Given the description of an element on the screen output the (x, y) to click on. 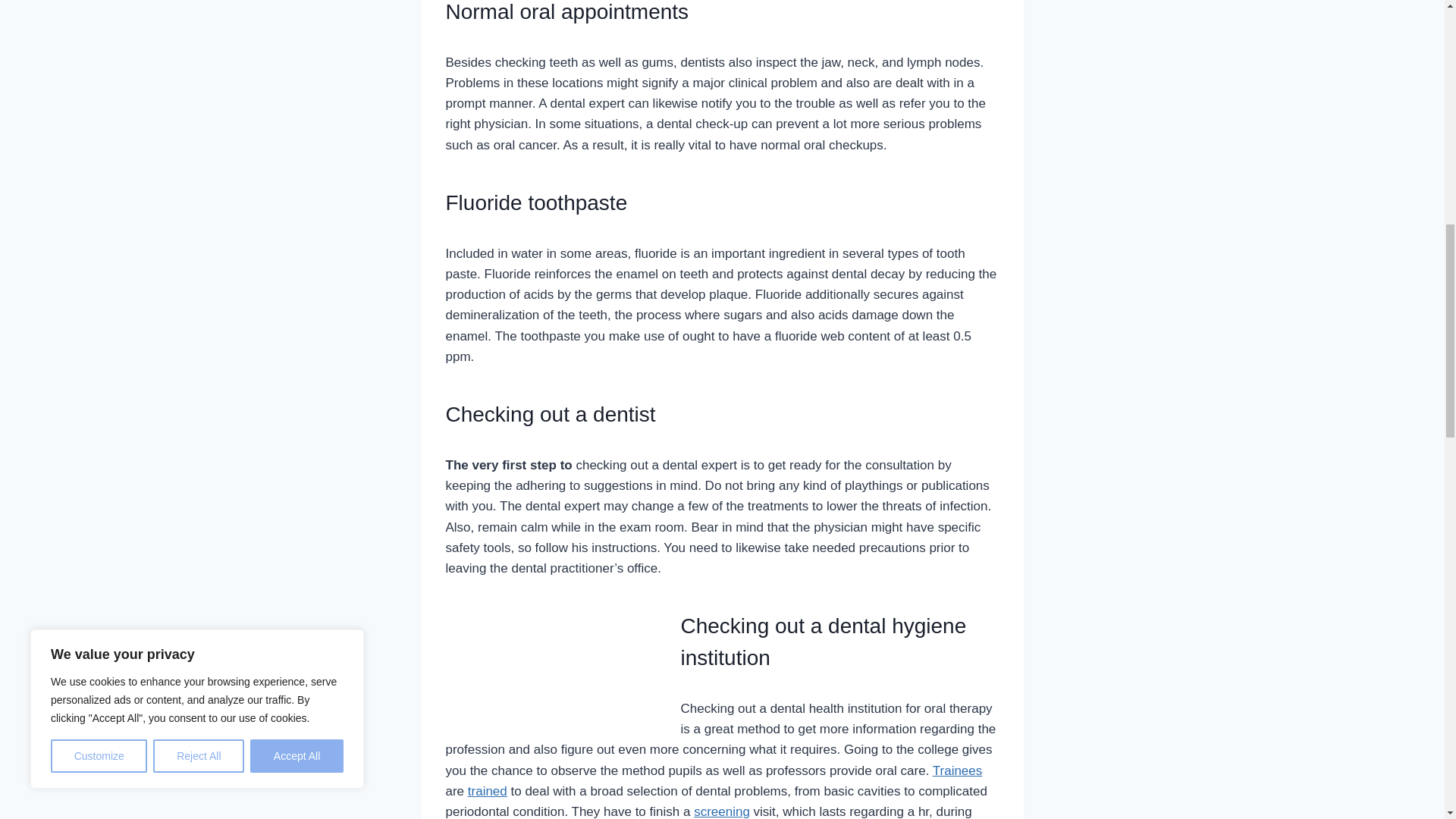
trained (486, 790)
Trainees (957, 770)
screening (721, 811)
